Given the description of an element on the screen output the (x, y) to click on. 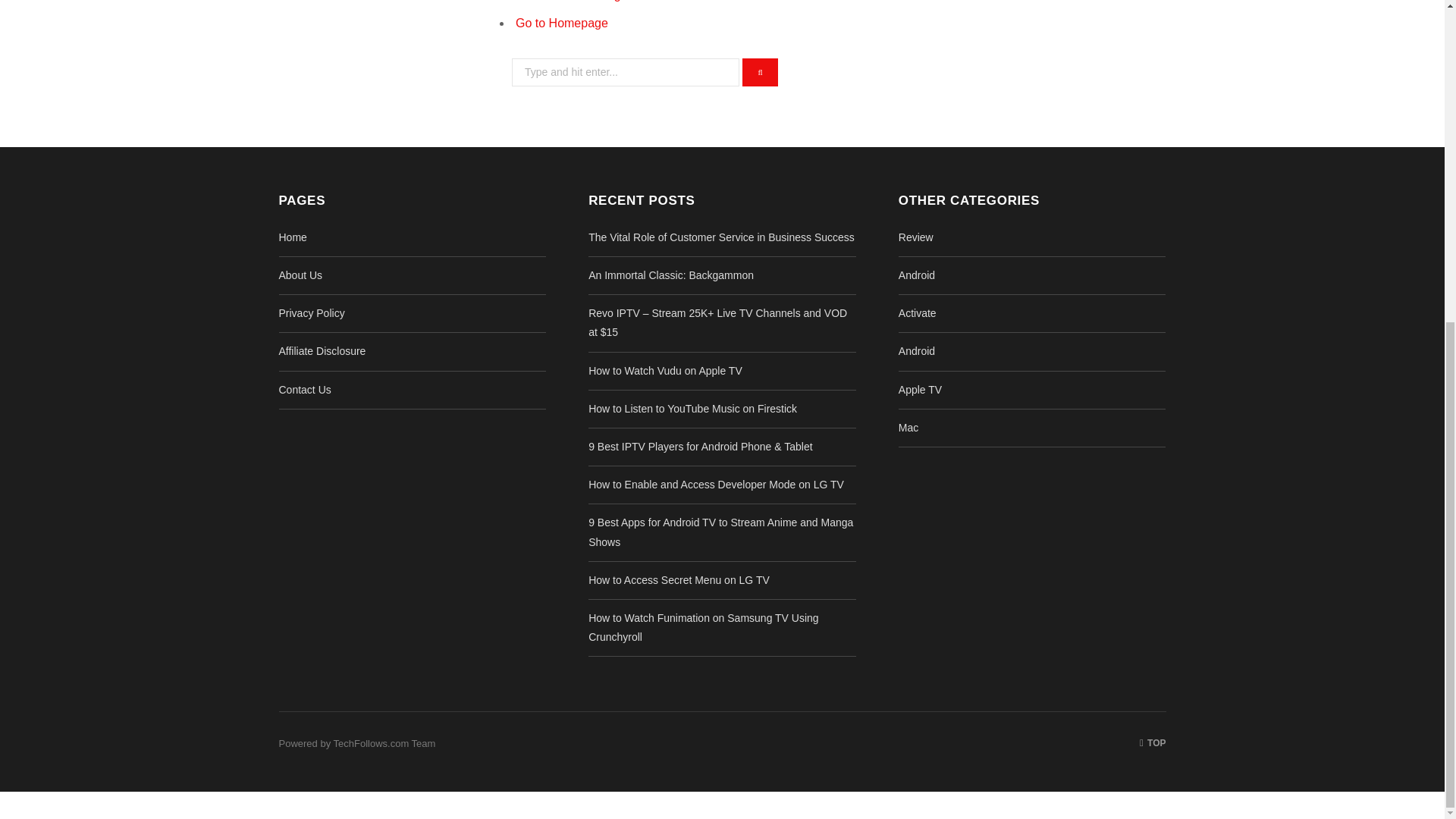
How to Listen to YouTube Music on Firestick (692, 408)
How to Access Secret Menu on LG TV (679, 580)
Apple TV (920, 389)
Privacy Policy (312, 313)
Search for: (625, 72)
Review (915, 236)
How to Watch Vudu on Apple TV (665, 370)
How to Enable and Access Developer Mode on LG TV (716, 484)
How to Watch Funimation on Samsung TV Using Crunchyroll (703, 626)
An Immortal Classic: Backgammon (671, 275)
